Given the description of an element on the screen output the (x, y) to click on. 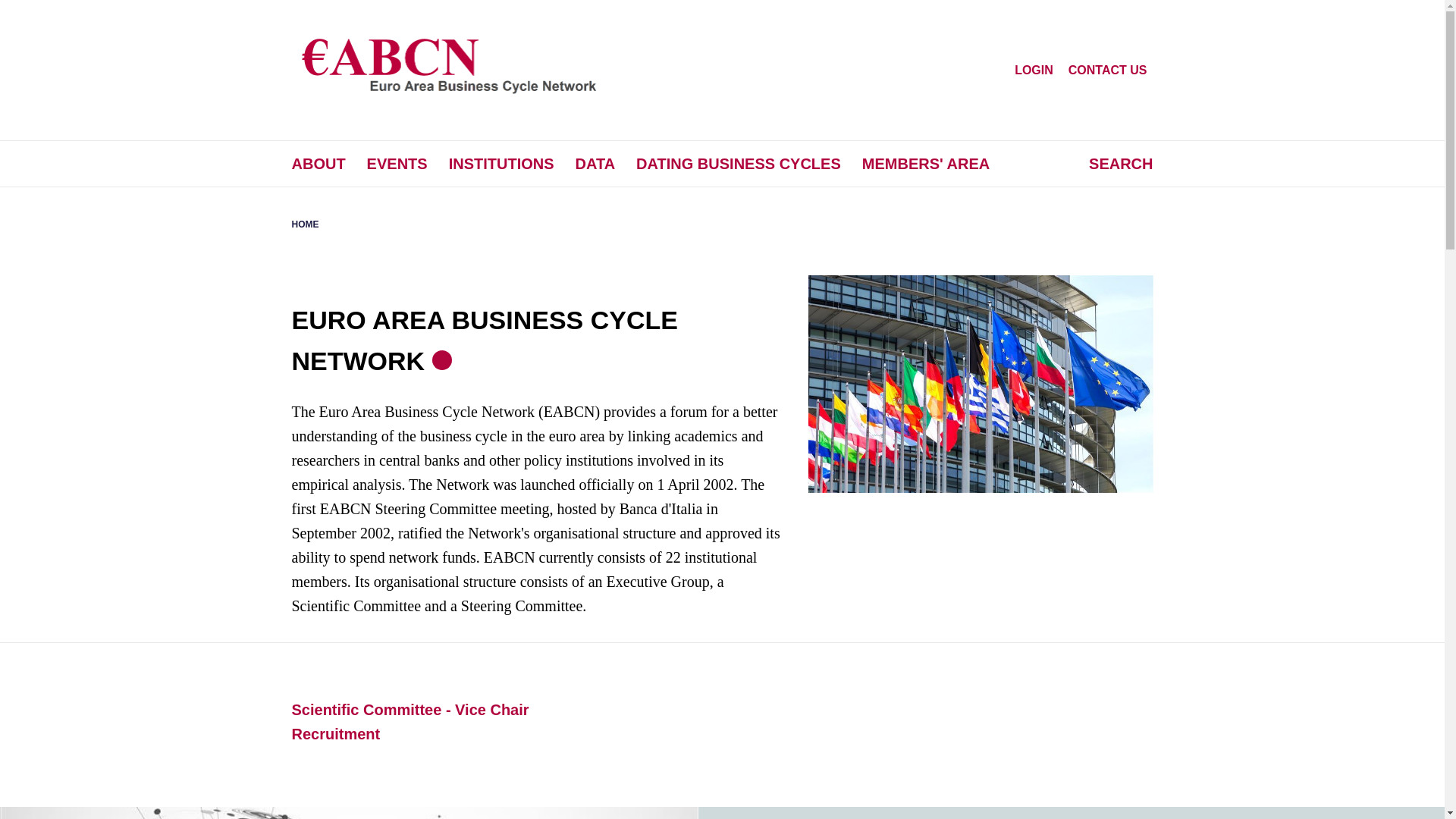
Scientific Committee - Vice Chair Recruitment (409, 721)
HOME (304, 224)
SEARCH (1113, 163)
ABOUT (318, 163)
EURO AREA BUSINESS CYCLE NETWORK (484, 340)
LOGIN (1034, 69)
DATING BUSINESS CYCLES (738, 163)
MEMBERS' AREA (925, 163)
EVENTS (397, 163)
